Given the description of an element on the screen output the (x, y) to click on. 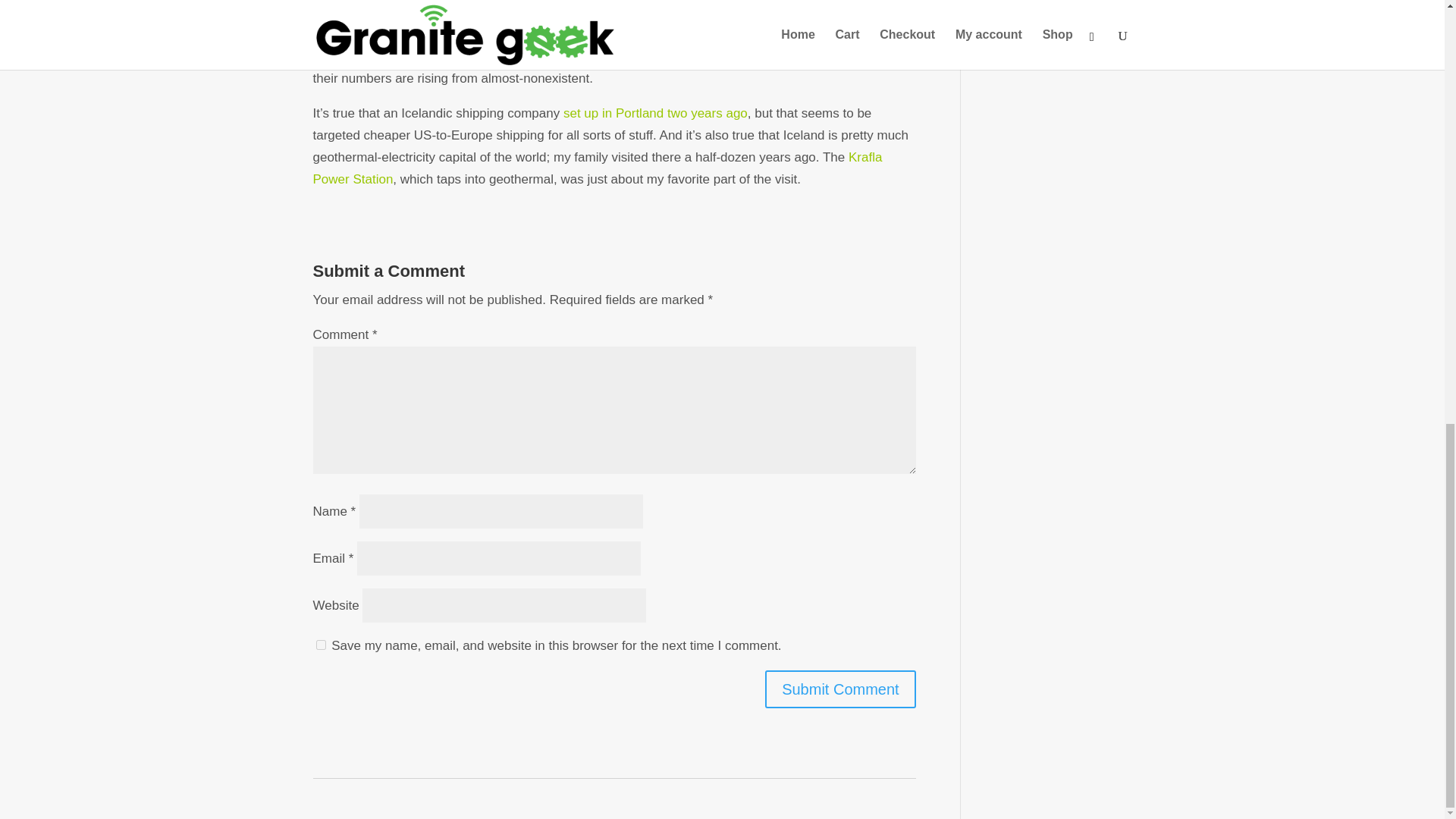
Krafla Power Station (597, 167)
yes (319, 644)
set up in Portland two years ago (653, 113)
Submit Comment (840, 689)
Submit Comment (840, 689)
This report six weeks ago from Iceland (705, 34)
